Given the description of an element on the screen output the (x, y) to click on. 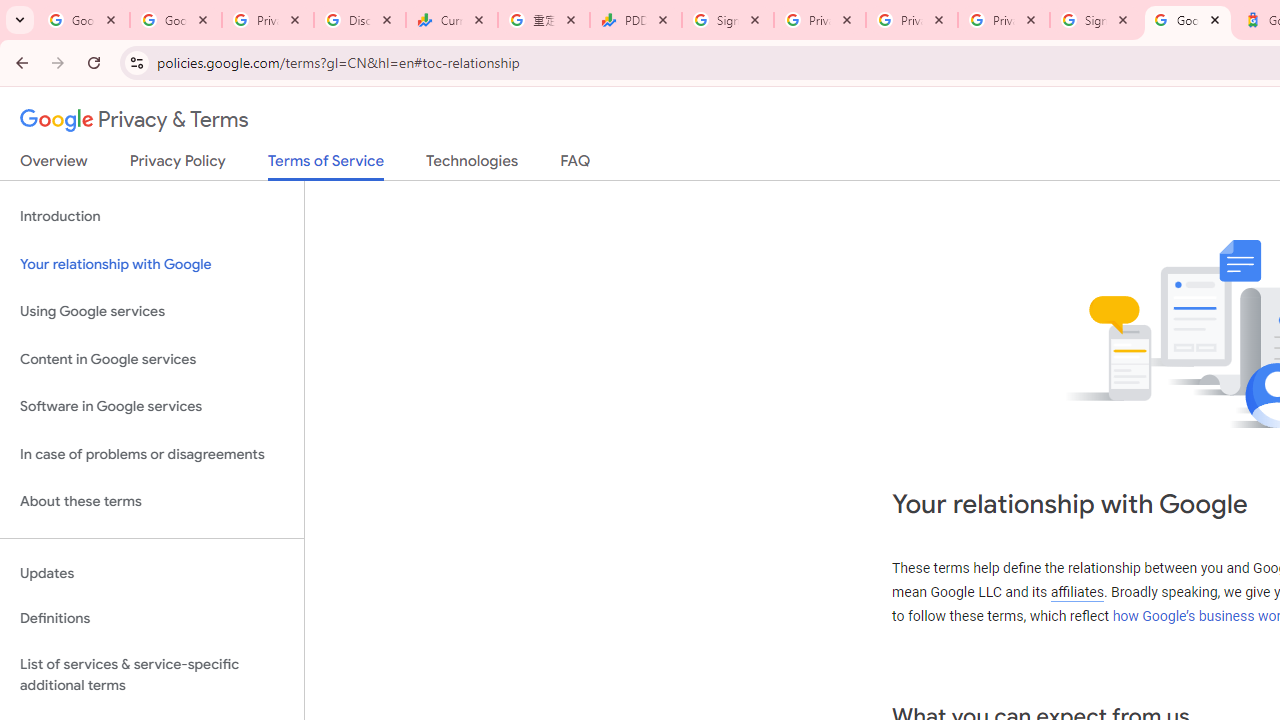
In case of problems or disagreements (152, 453)
Sign in - Google Accounts (728, 20)
PDD Holdings Inc - ADR (PDD) Price & News - Google Finance (636, 20)
Introduction (152, 216)
Software in Google services (152, 407)
Privacy Checkup (911, 20)
Definitions (152, 619)
